Given the description of an element on the screen output the (x, y) to click on. 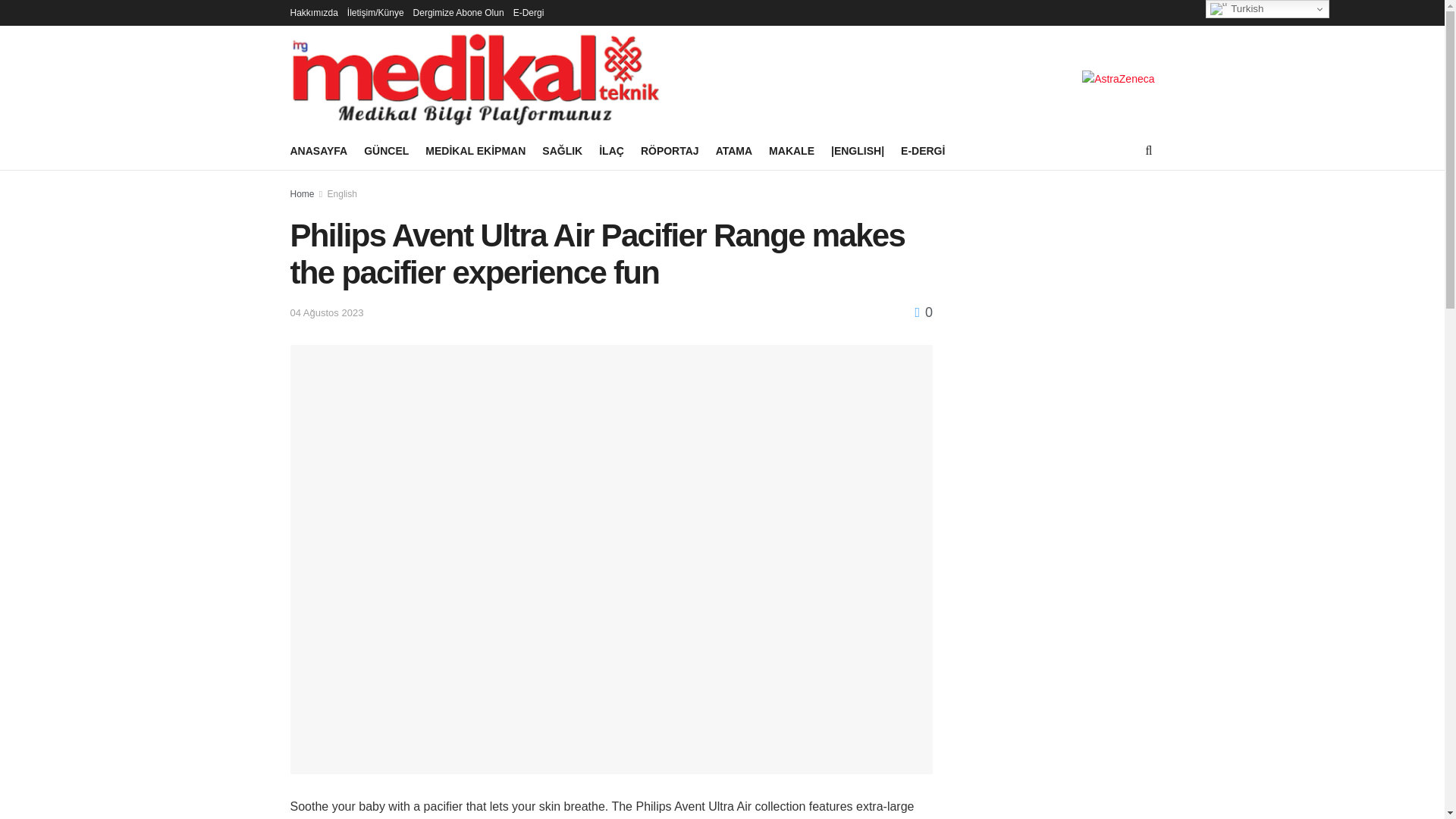
E-Dergi (528, 12)
Home (301, 194)
MEDIKAL EKIPMAN (475, 150)
ANASAYFA (318, 150)
English (341, 194)
Dergimize Abone Olun (458, 12)
E-DERGI (922, 150)
0 (923, 312)
MAKALE (790, 150)
ATAMA (734, 150)
